Given the description of an element on the screen output the (x, y) to click on. 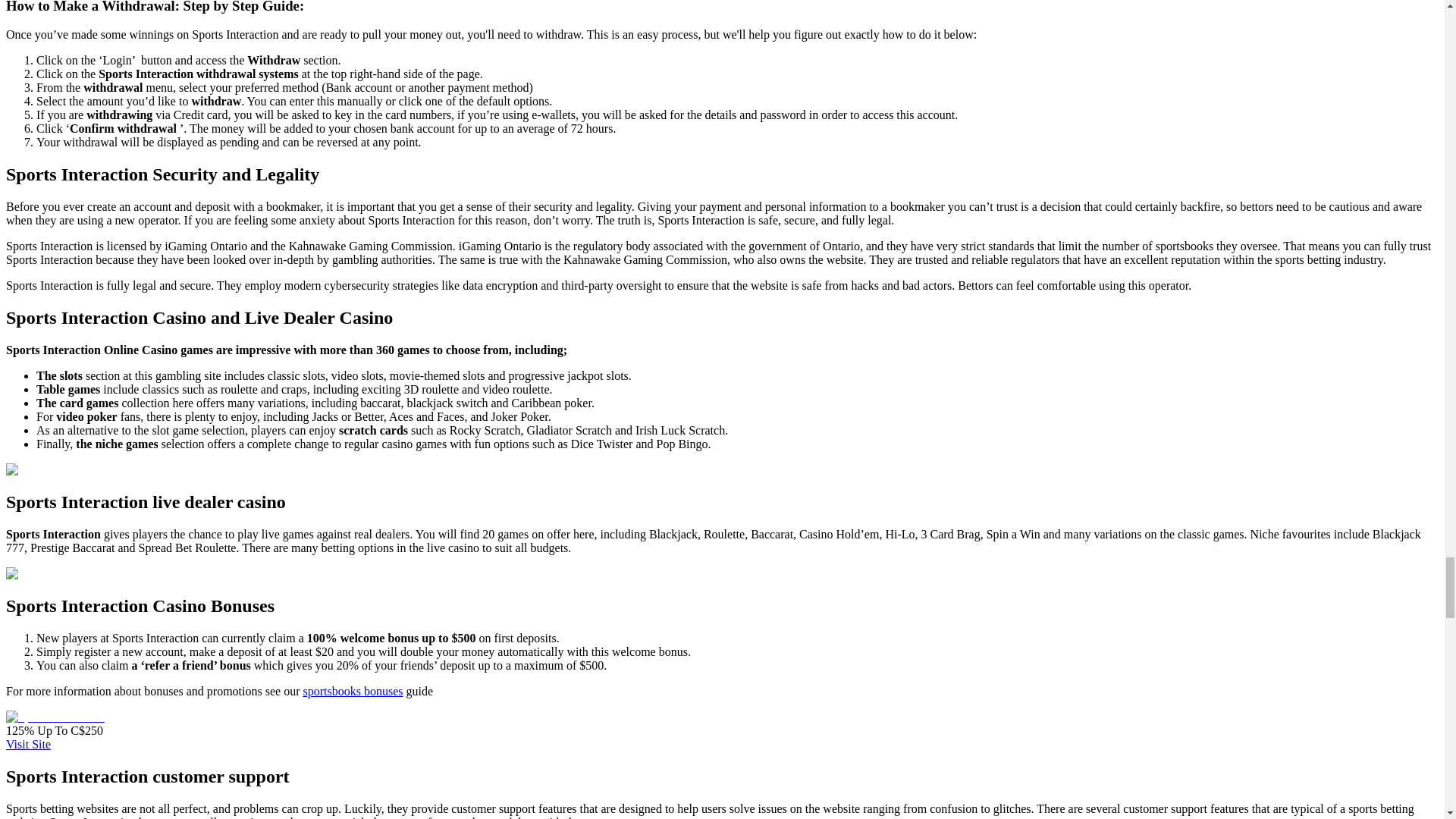
Sports Intercation (54, 716)
